Given the description of an element on the screen output the (x, y) to click on. 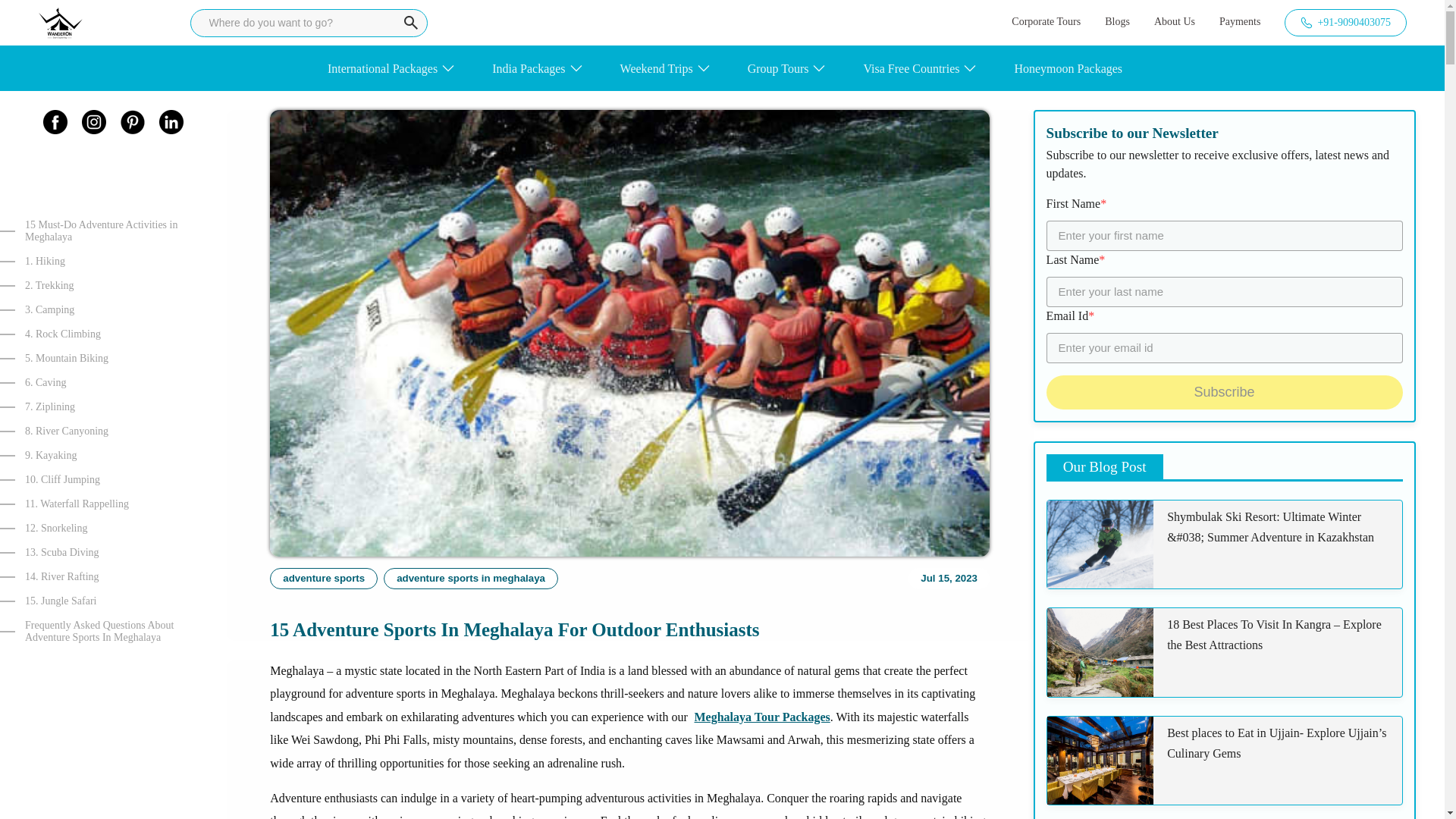
India Packages (528, 67)
Weekend Trips (656, 67)
About Us (1174, 22)
International Packages (382, 67)
Blogs (1117, 22)
Payments (1240, 22)
Corporate Tours (1045, 22)
Group Tours (778, 67)
